Given the description of an element on the screen output the (x, y) to click on. 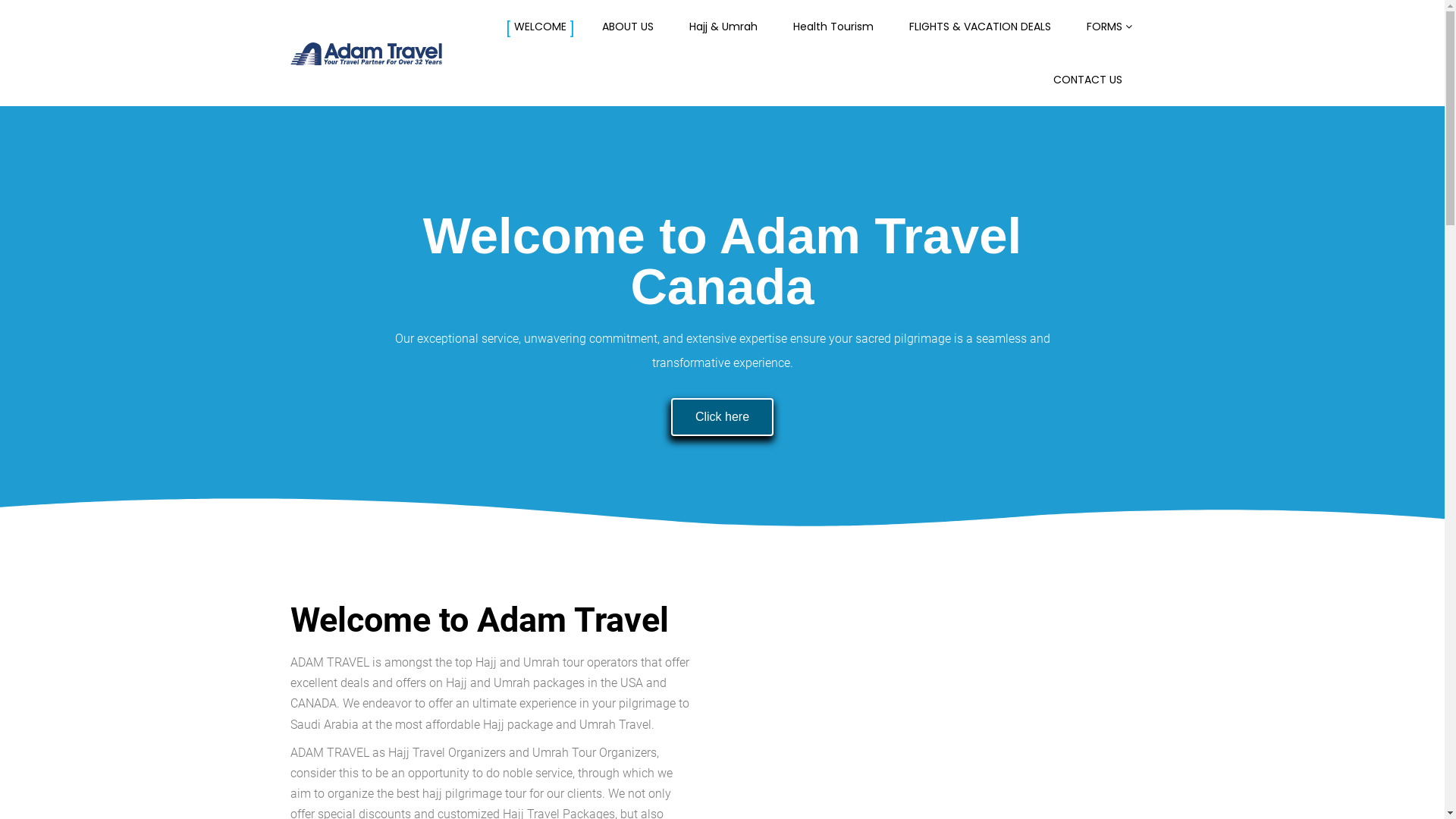
FLIGHTS & VACATION DEALS Element type: text (979, 26)
Click here Element type: text (722, 417)
Logo Element type: hover (365, 53)
FORMS Element type: text (1103, 26)
ABOUT US Element type: text (627, 26)
Hajj & Umrah Element type: text (722, 26)
WELCOME Element type: text (540, 26)
Health Tourism Element type: text (833, 26)
CONTACT US Element type: text (1086, 79)
